Given the description of an element on the screen output the (x, y) to click on. 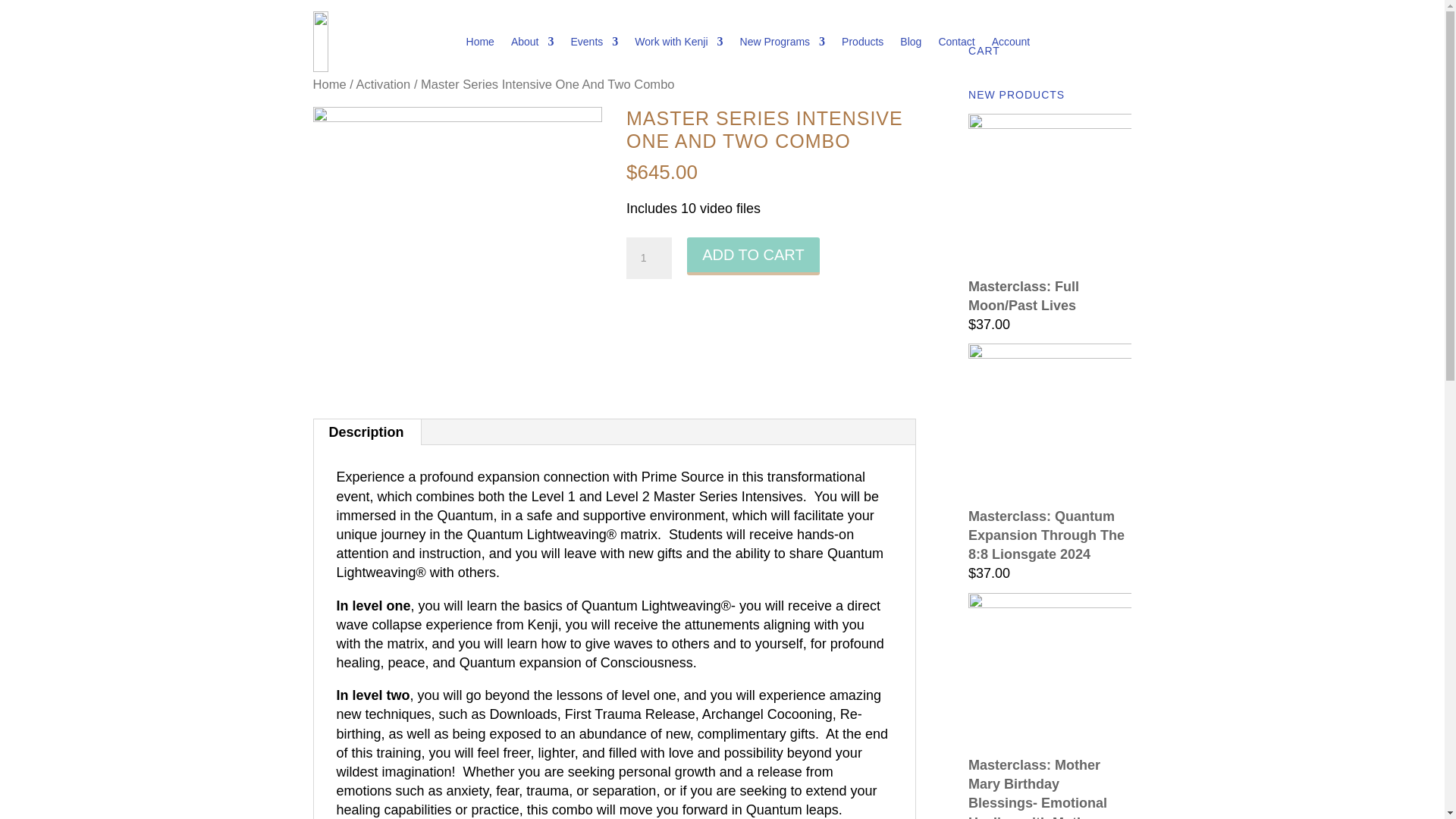
1 (648, 258)
New Programs (782, 41)
master series intensive (457, 251)
Work with Kenji (678, 41)
